Given the description of an element on the screen output the (x, y) to click on. 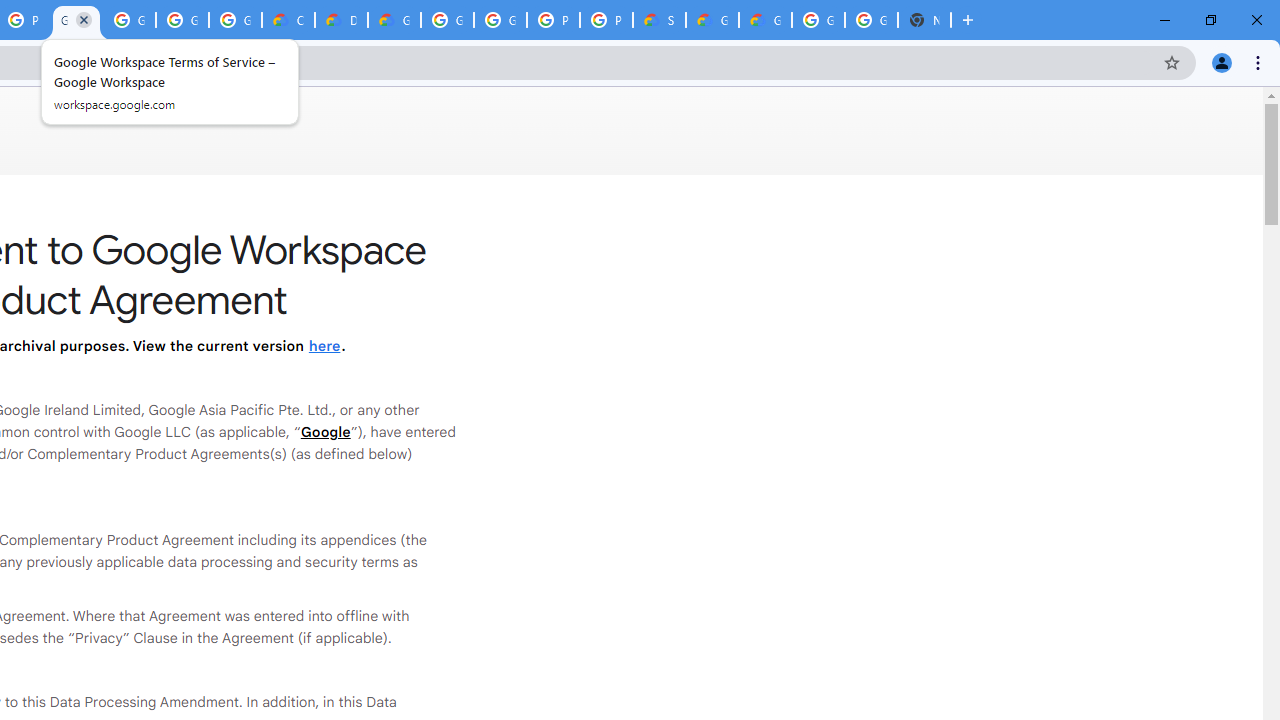
Google Cloud Service Health (765, 20)
Google Cloud Platform (447, 20)
Customer Care | Google Cloud (288, 20)
